Given the description of an element on the screen output the (x, y) to click on. 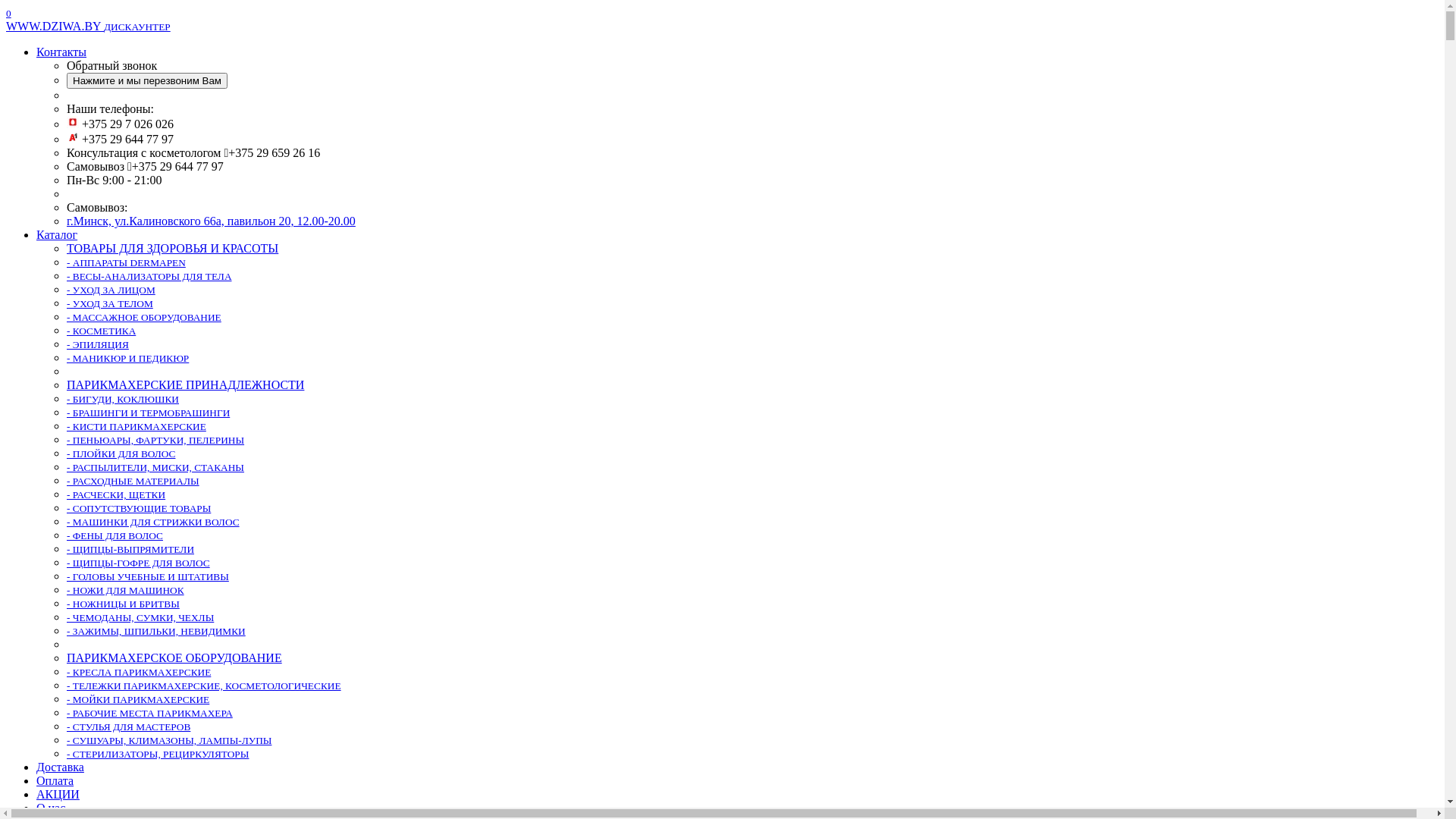
0 Element type: text (8, 12)
